Given the description of an element on the screen output the (x, y) to click on. 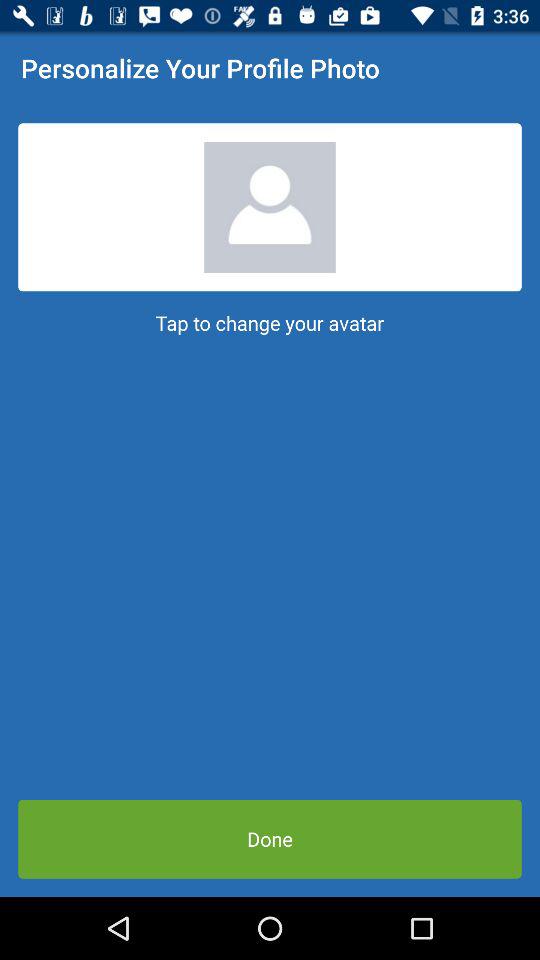
select done item (269, 838)
